Given the description of an element on the screen output the (x, y) to click on. 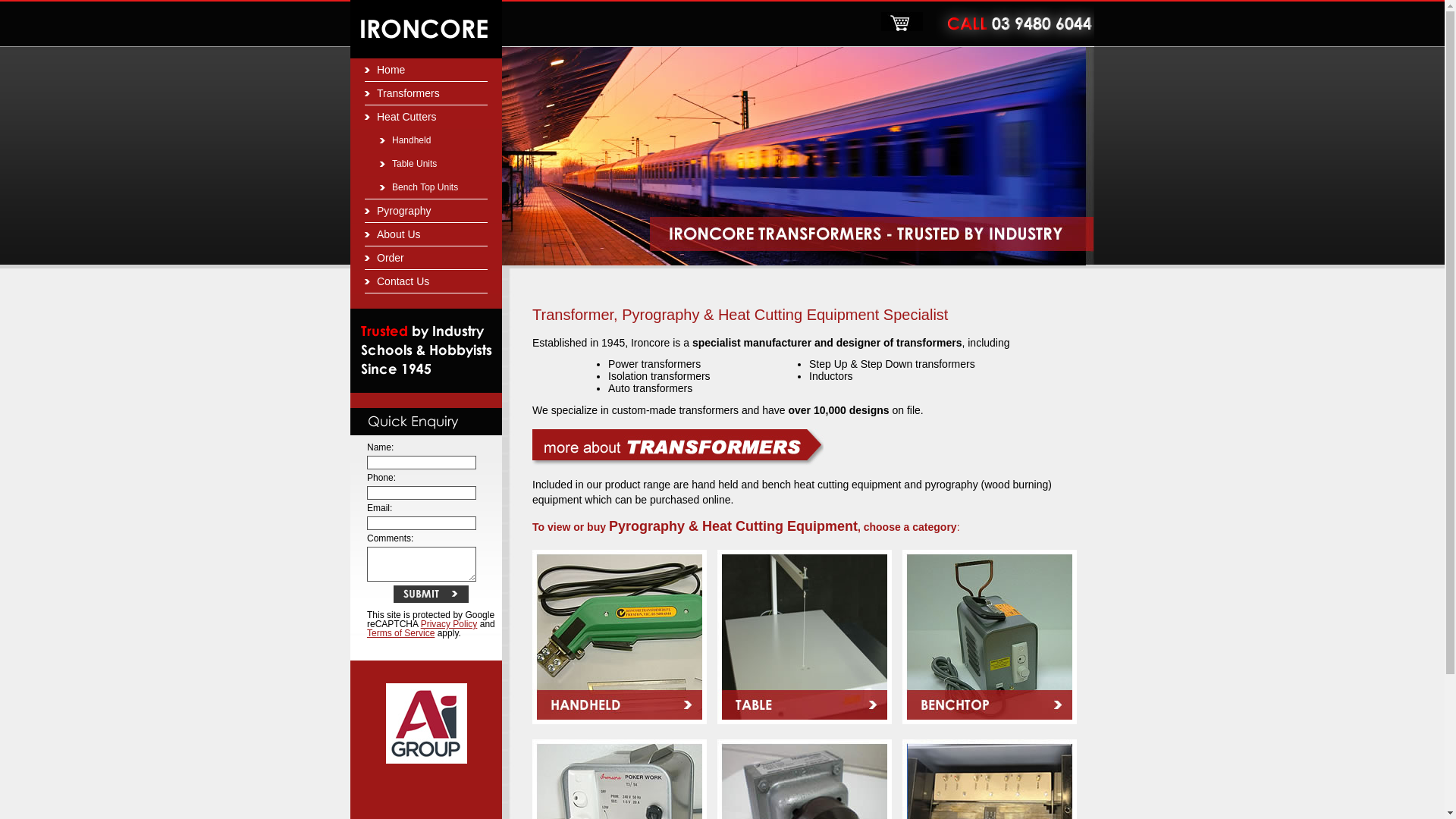
About Us Element type: text (426, 234)
Contact Us Element type: text (426, 281)
Table Units Element type: text (426, 164)
Terms of Service Element type: text (400, 632)
Handheld Element type: text (426, 140)
Pyrography Element type: text (426, 211)
Privacy Policy Element type: text (448, 623)
Transformers Element type: text (426, 93)
Order Element type: text (426, 258)
Home Element type: text (426, 70)
Bench Top Units Element type: text (426, 187)
